Given the description of an element on the screen output the (x, y) to click on. 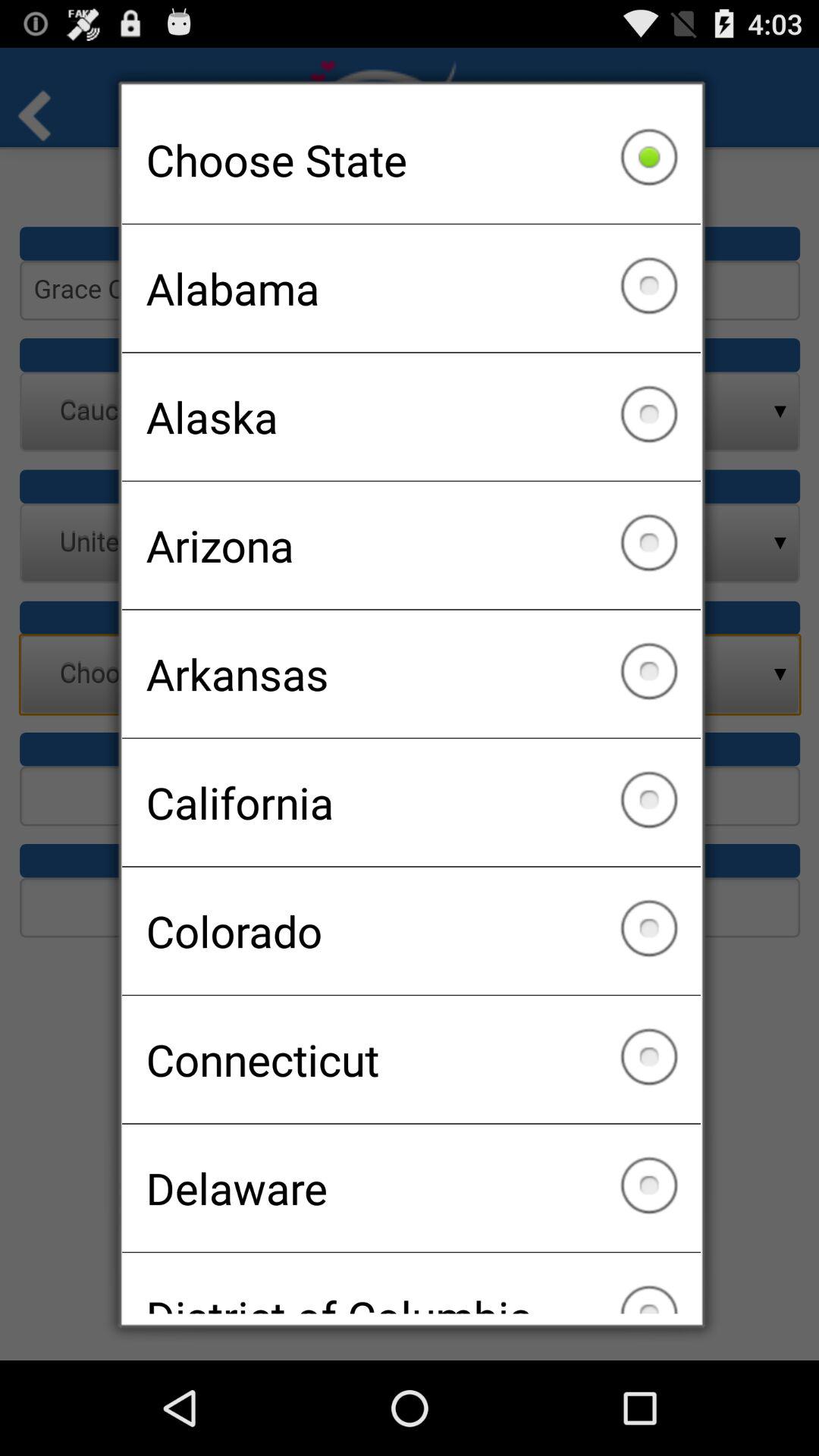
click delaware (411, 1187)
